Given the description of an element on the screen output the (x, y) to click on. 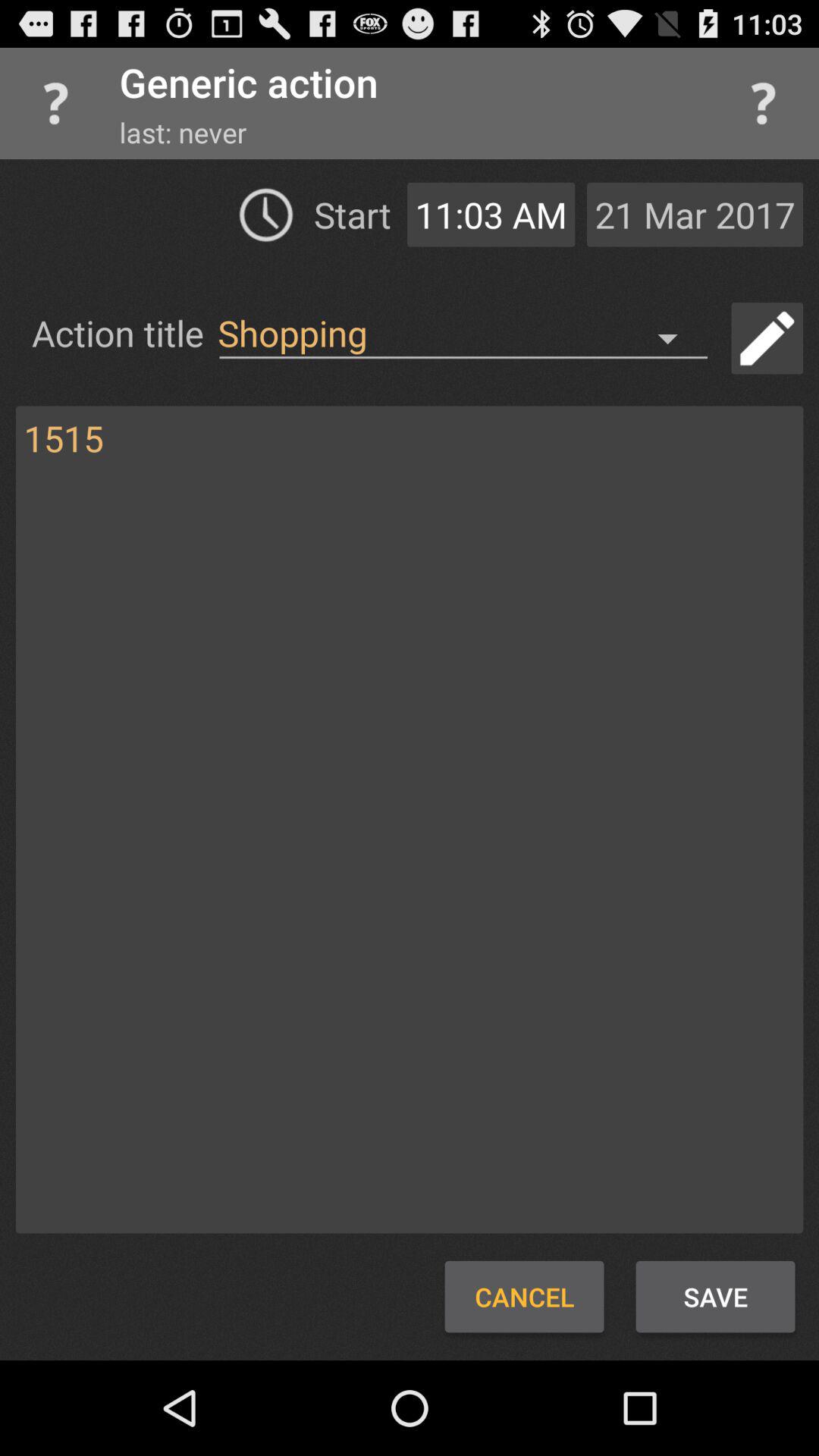
edit field (767, 338)
